Given the description of an element on the screen output the (x, y) to click on. 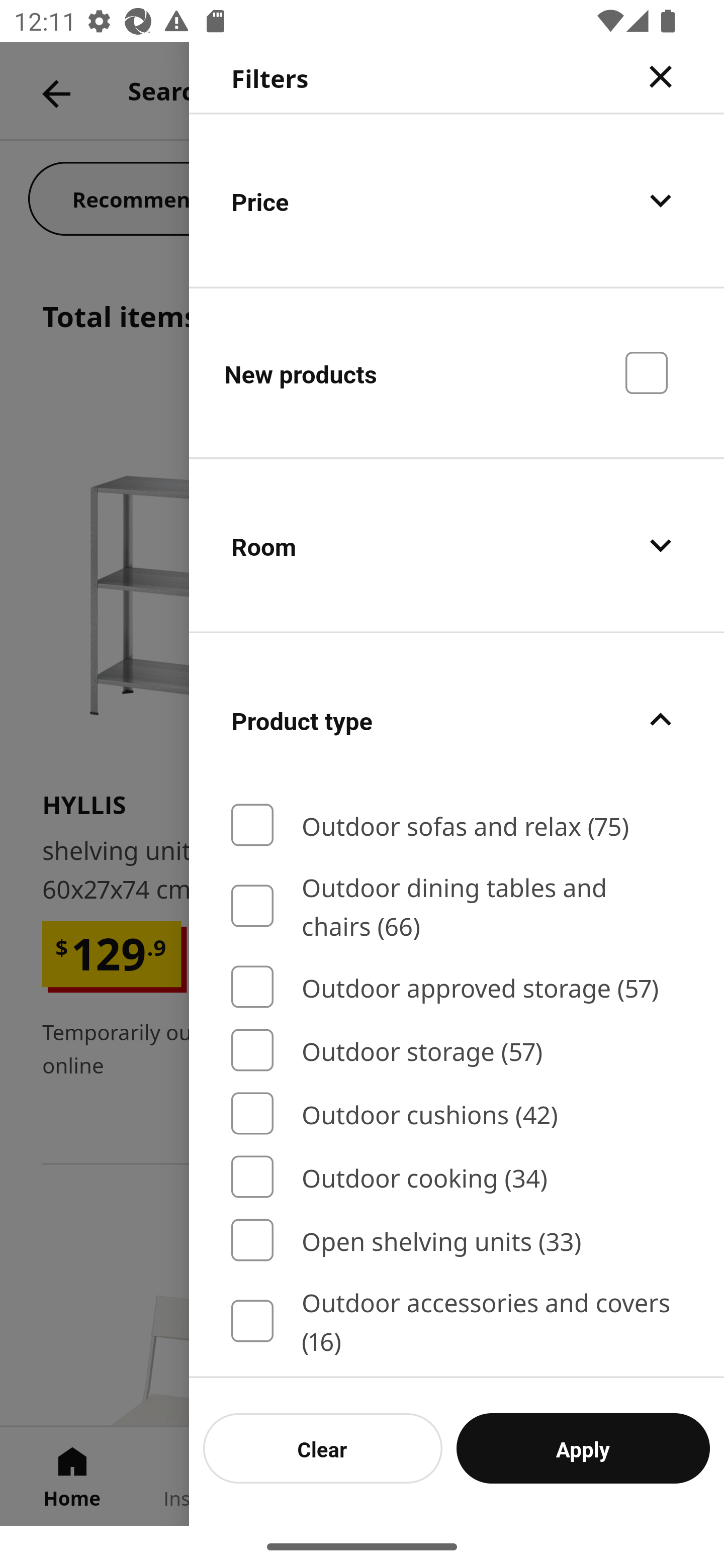
Price (456, 200)
New products (456, 371)
Room (456, 545)
Product type (456, 719)
Outdoor sofas and relax (75) (456, 825)
Outdoor dining tables and chairs (66) (456, 906)
Outdoor approved storage (57) (456, 986)
Outdoor storage (57) (456, 1049)
Outdoor cushions (42) (456, 1113)
Outdoor cooking (34) (456, 1176)
Open shelving units (33) (456, 1239)
Outdoor accessories and covers (16) (456, 1320)
Clear (322, 1447)
Apply (583, 1447)
